Given the description of an element on the screen output the (x, y) to click on. 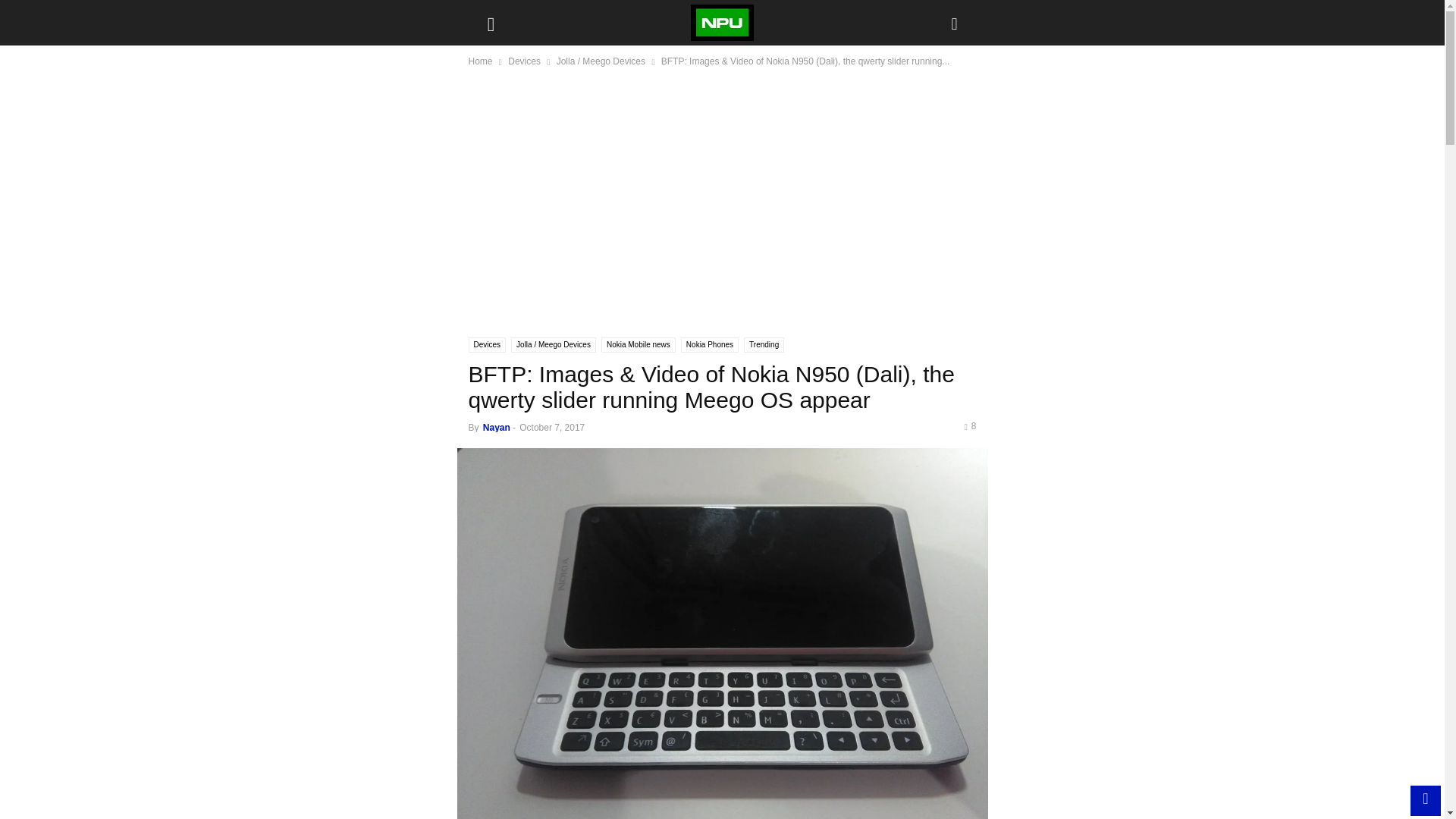
Devices (487, 344)
Home (480, 61)
8 (969, 425)
3rd party ad content (722, 209)
Nokiapoweruser logo (721, 22)
View all posts in Devices (524, 61)
Trending (764, 344)
Devices (524, 61)
Nokiapoweruser logo (722, 22)
Nokia Mobile news (638, 344)
Nokia Phones (709, 344)
Nayan (497, 427)
